Given the description of an element on the screen output the (x, y) to click on. 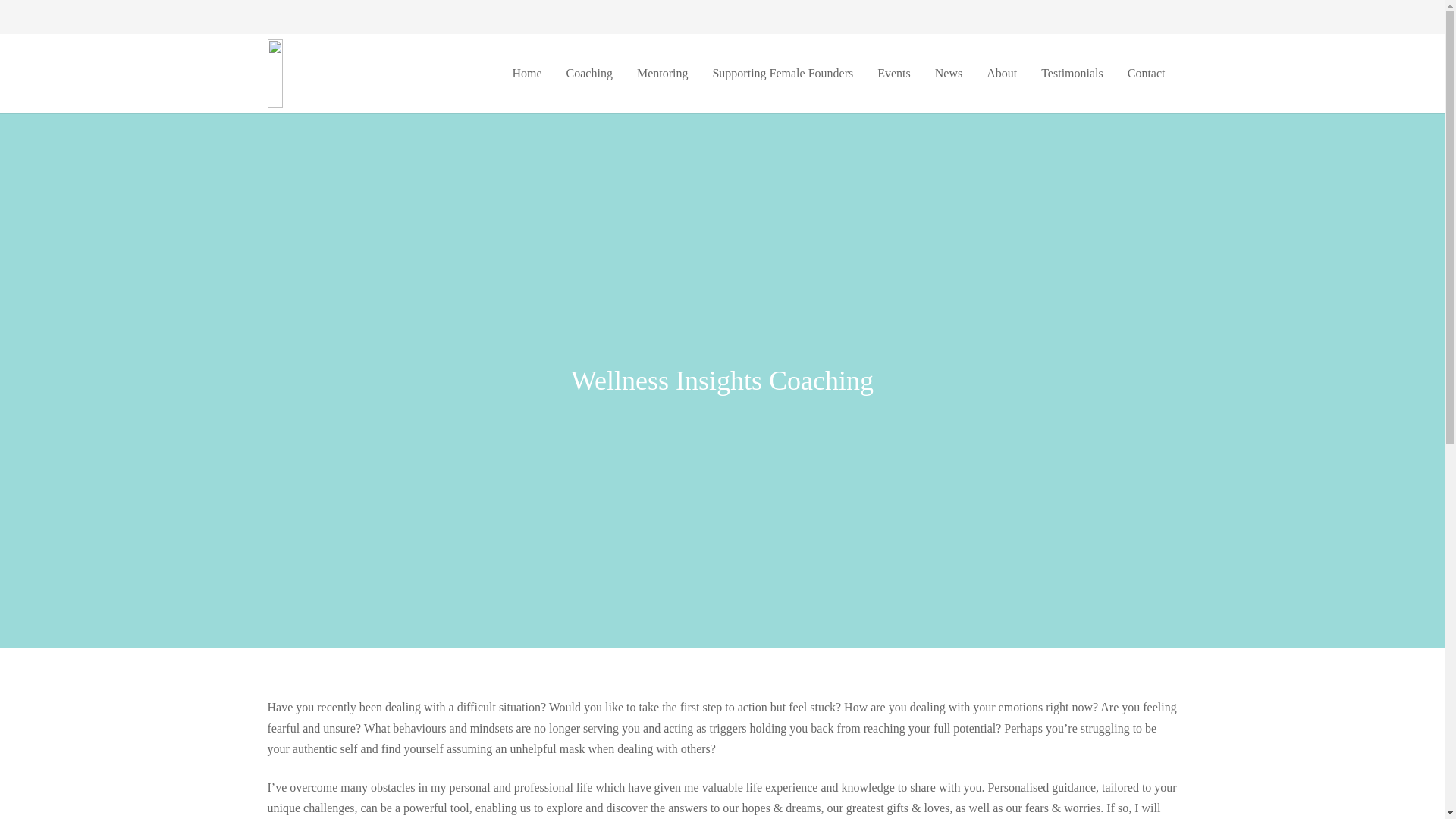
Supporting Female Founders (782, 73)
Mentoring (662, 73)
News (948, 73)
Contact (1146, 73)
Testimonials (1072, 73)
About (1001, 73)
Coaching (589, 73)
Events (893, 73)
Home (526, 73)
